Given the description of an element on the screen output the (x, y) to click on. 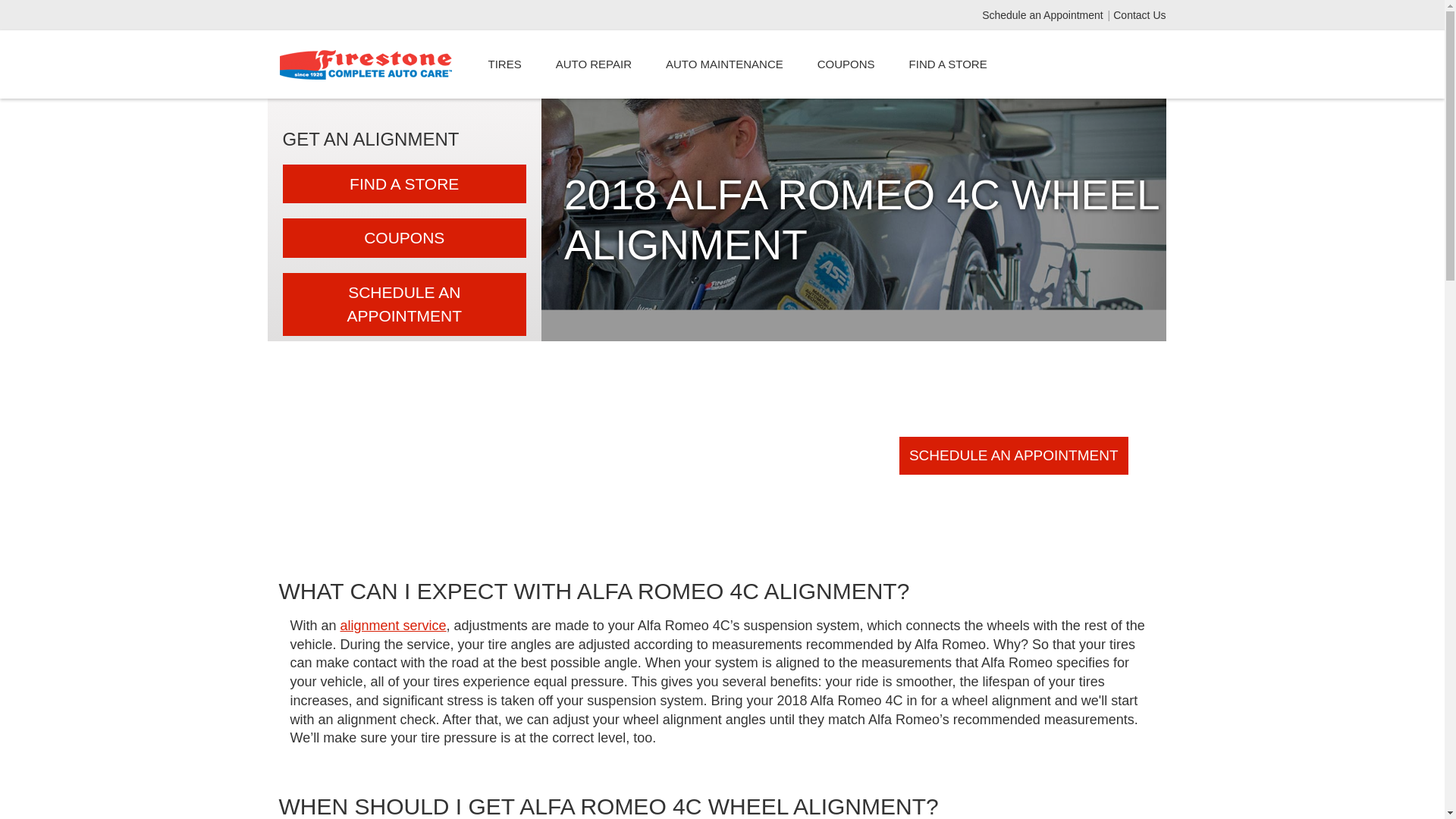
Contact Us (1139, 15)
TIRES (504, 64)
COUPONS (403, 237)
COUPONS (845, 64)
Schedule an Appointment (1043, 15)
Firestone Complete Auto Care (365, 64)
SCHEDULE AN APPOINTMENT (1013, 455)
AUTO REPAIR (593, 64)
SCHEDULE AN APPOINTMENT (403, 303)
AUTO MAINTENANCE (724, 64)
